Given the description of an element on the screen output the (x, y) to click on. 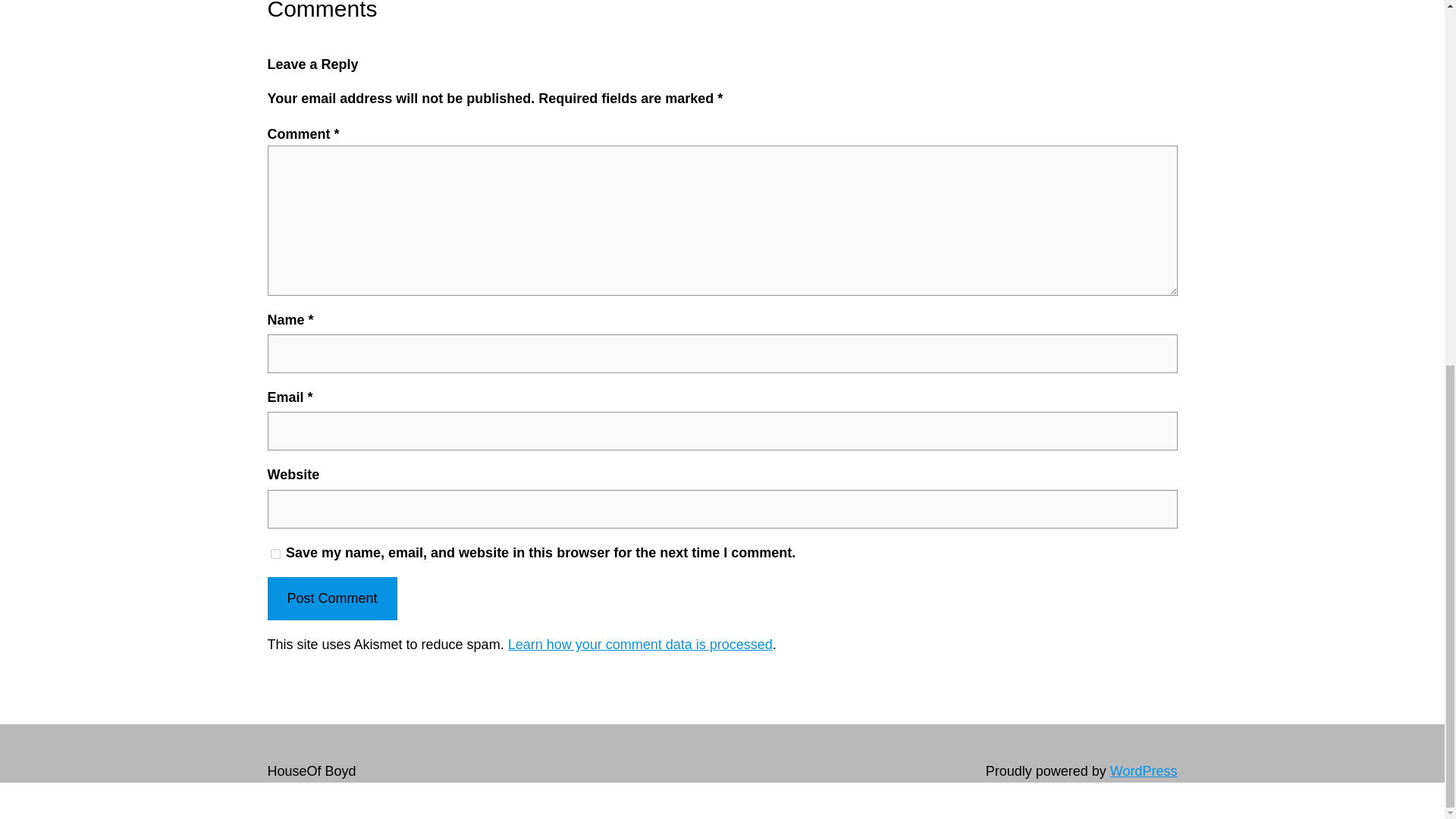
WordPress (1143, 770)
yes (274, 554)
Post Comment (331, 598)
Post Comment (331, 598)
Learn how your comment data is processed (640, 644)
HouseOf Boyd (310, 770)
